Given the description of an element on the screen output the (x, y) to click on. 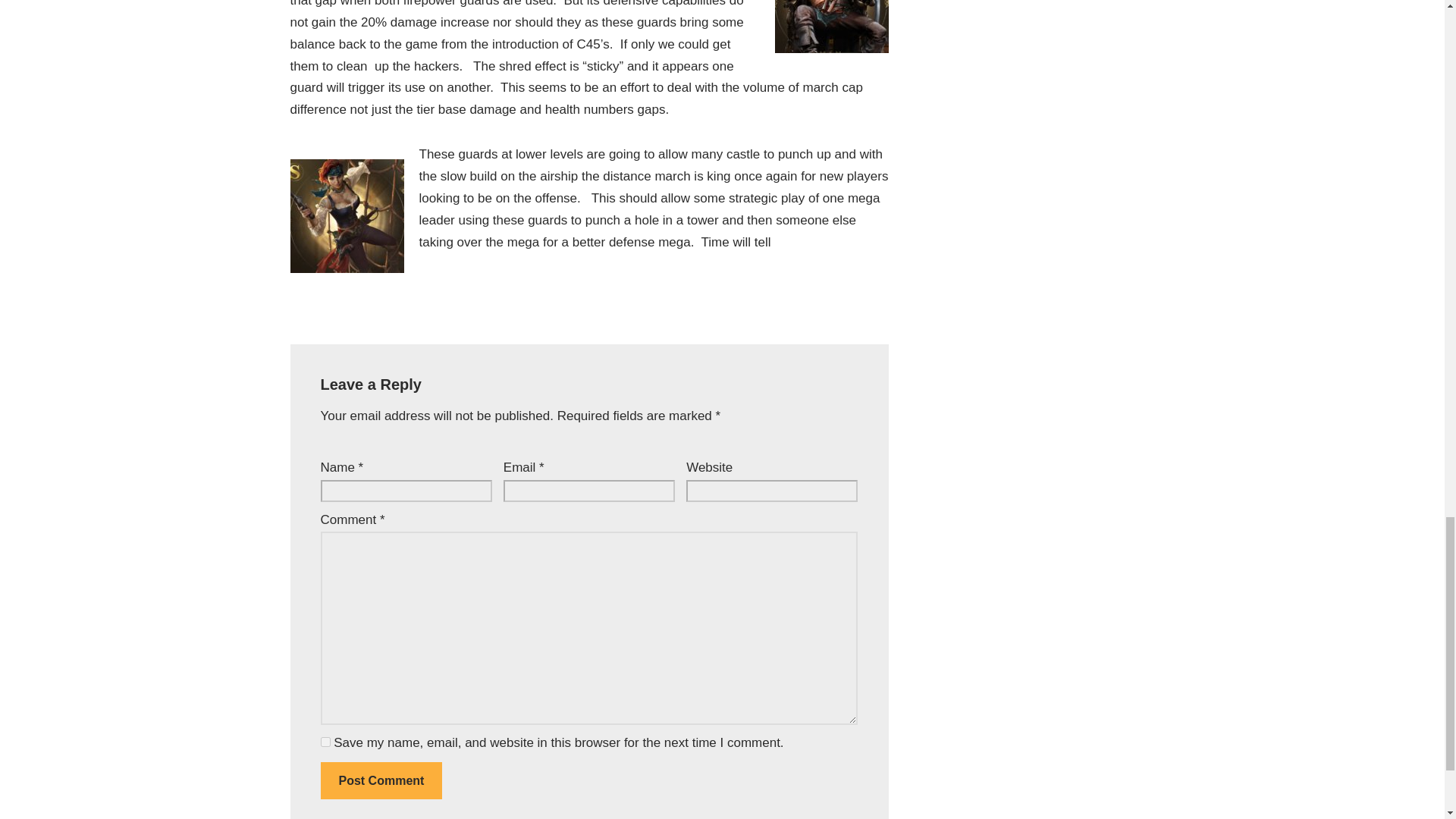
Post Comment (381, 781)
yes (325, 741)
Post Comment (381, 781)
